Given the description of an element on the screen output the (x, y) to click on. 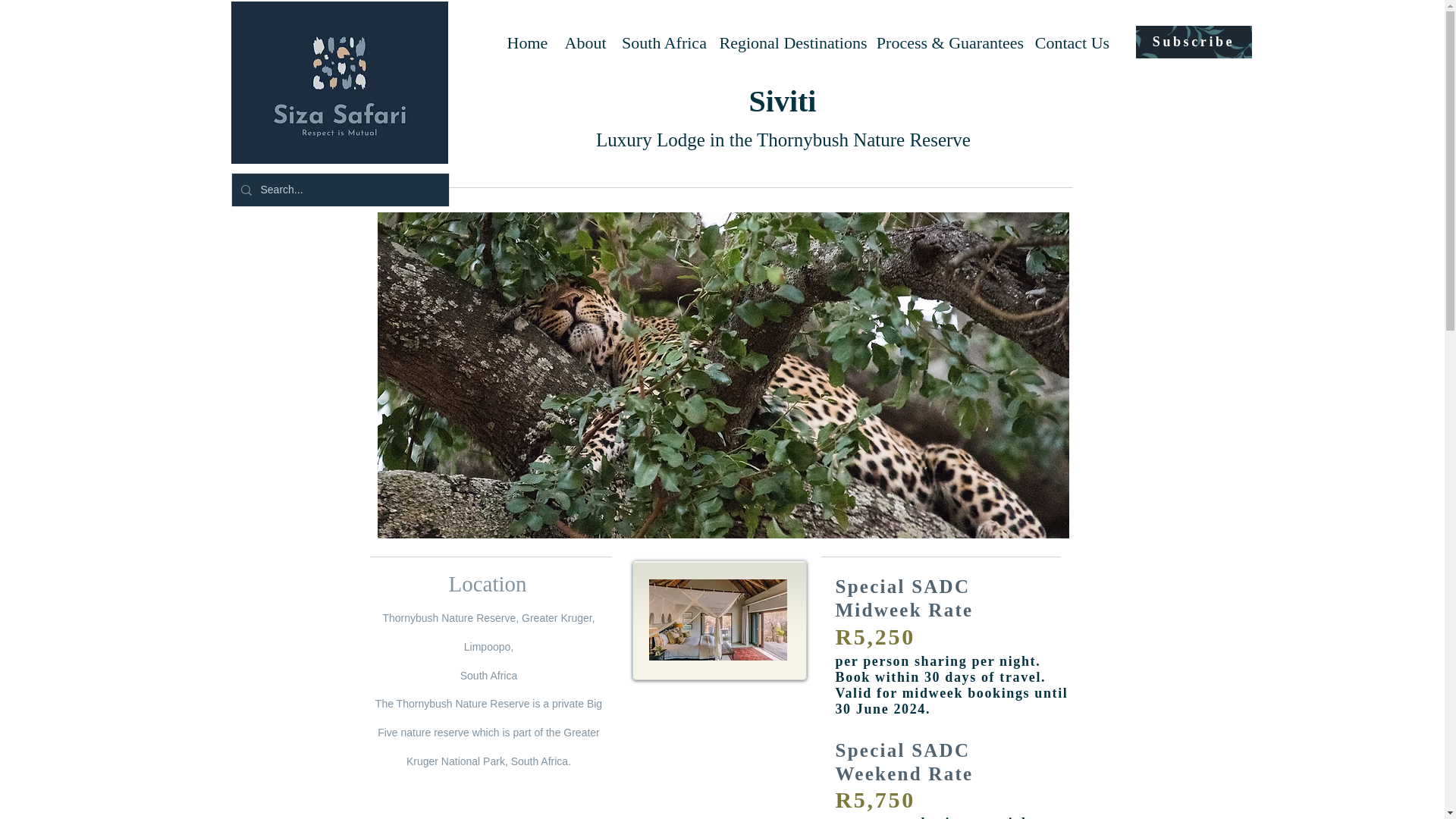
Subscribe (1193, 41)
Contact Us (1070, 42)
About (585, 42)
TB-River-Lodge-Standard-Suite-2500px-015.jpg (718, 619)
Home (529, 42)
